Given the description of an element on the screen output the (x, y) to click on. 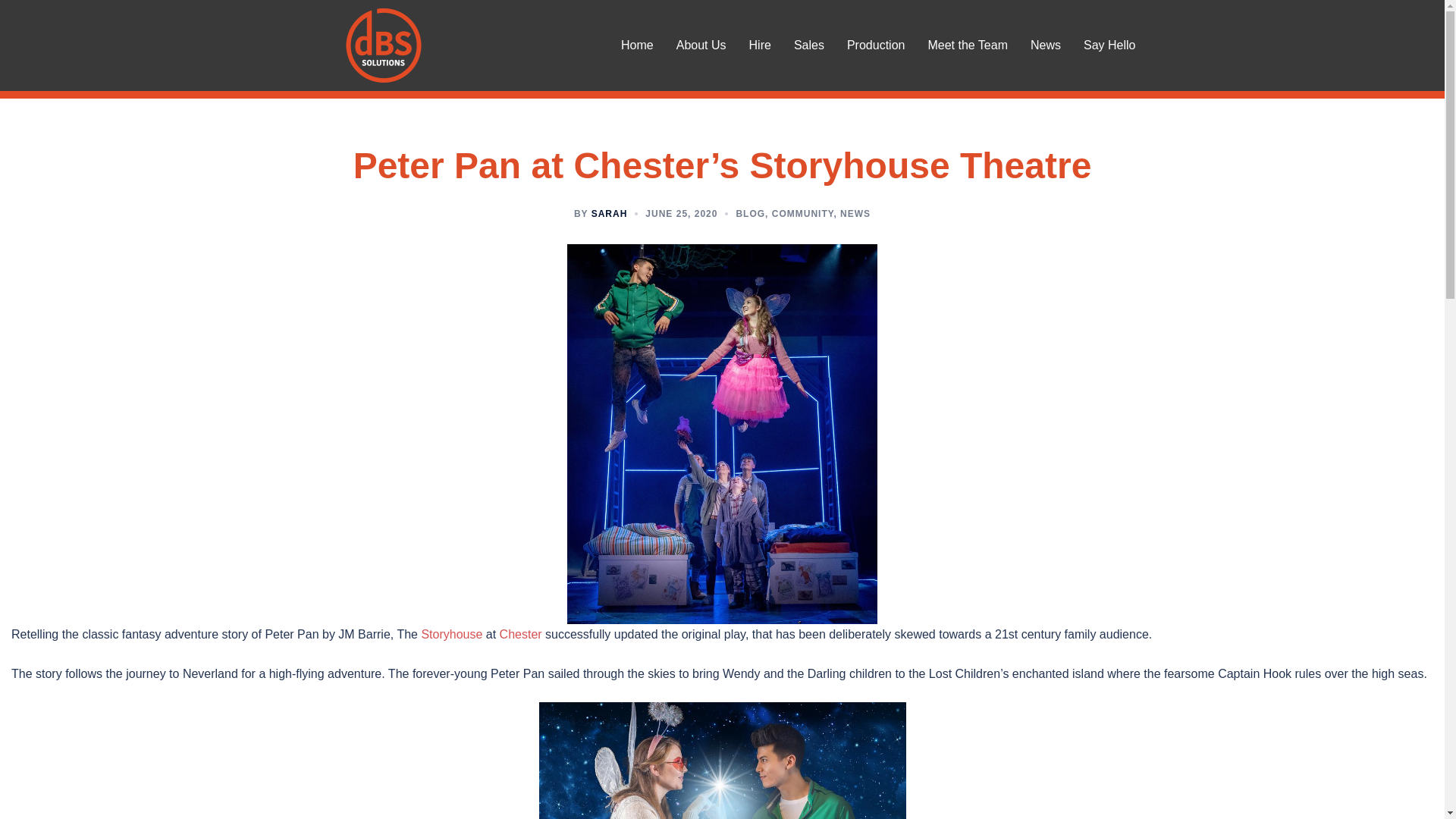
Production (876, 45)
BLOG (750, 213)
Hire (760, 45)
Sales (809, 45)
About Us (701, 45)
dBS-Solutions (384, 45)
Chester (520, 634)
Say Hello (1109, 45)
NEWS (855, 213)
Storyhouse (450, 634)
